Given the description of an element on the screen output the (x, y) to click on. 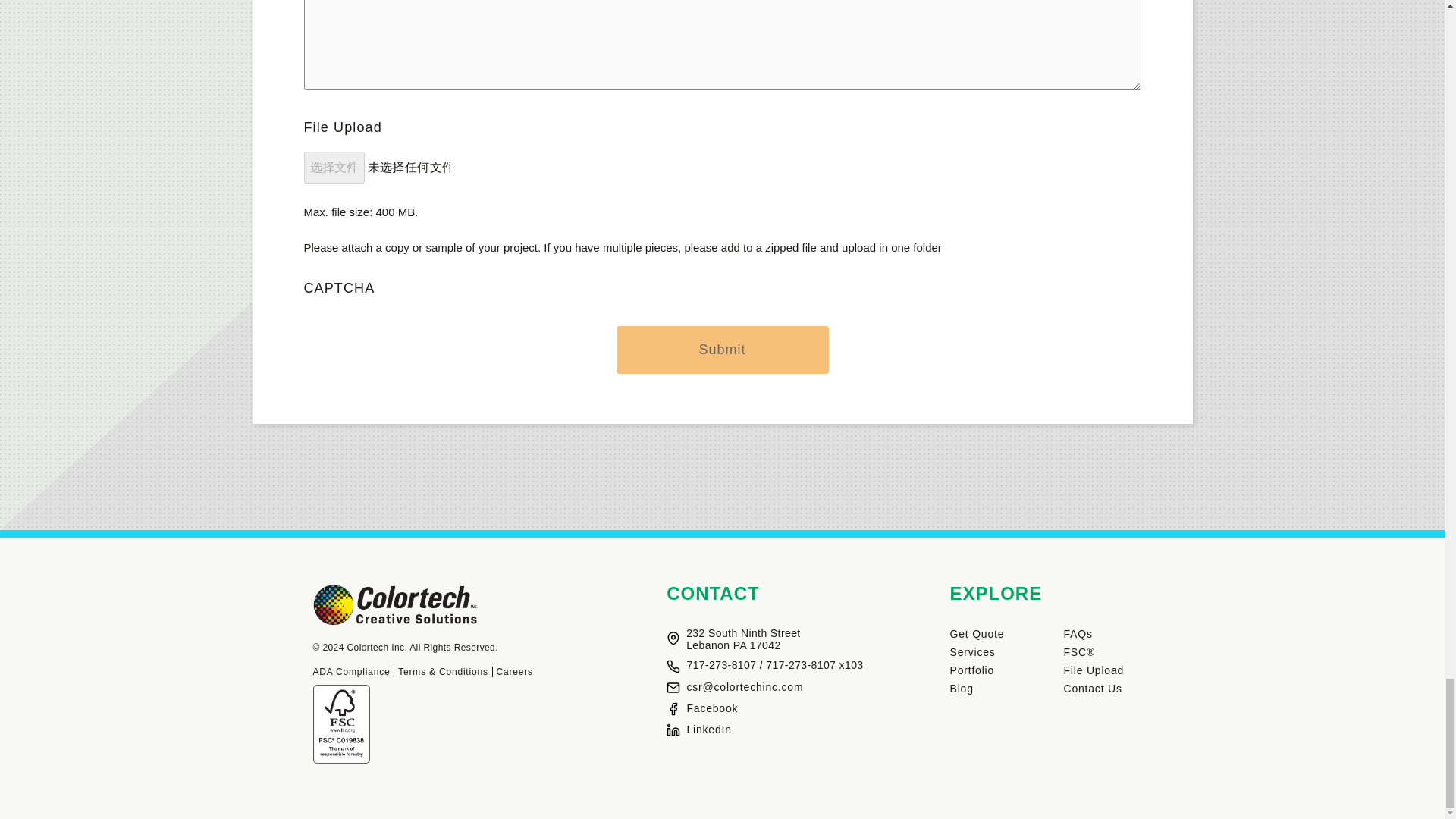
Submit (721, 349)
